Given the description of an element on the screen output the (x, y) to click on. 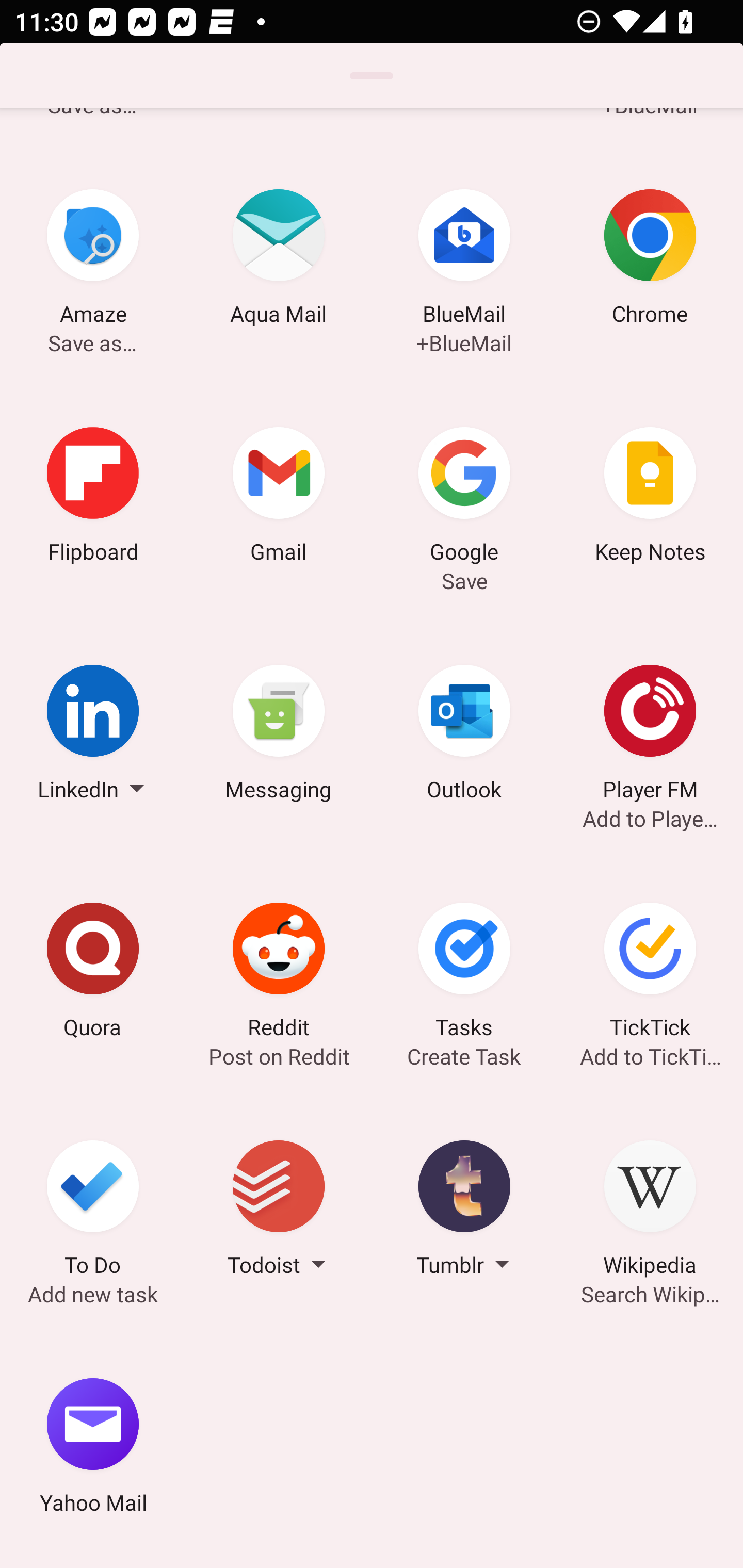
Amaze Save as… (92, 260)
Aqua Mail (278, 260)
BlueMail +BlueMail (464, 260)
Chrome (650, 260)
Flipboard (92, 497)
Gmail (278, 497)
Google Save (464, 497)
Keep Notes (650, 497)
LinkedIn (92, 735)
Messaging (278, 735)
Outlook (464, 735)
Player FM Add to Player FM (650, 735)
Quora (92, 973)
Reddit Post on Reddit (278, 973)
Tasks Create Task (464, 973)
TickTick Add to TickTick (650, 973)
To Do Add new task (92, 1210)
Todoist (278, 1210)
Tumblr (464, 1210)
Wikipedia Search Wikipedia (650, 1210)
Yahoo Mail (92, 1448)
